Given the description of an element on the screen output the (x, y) to click on. 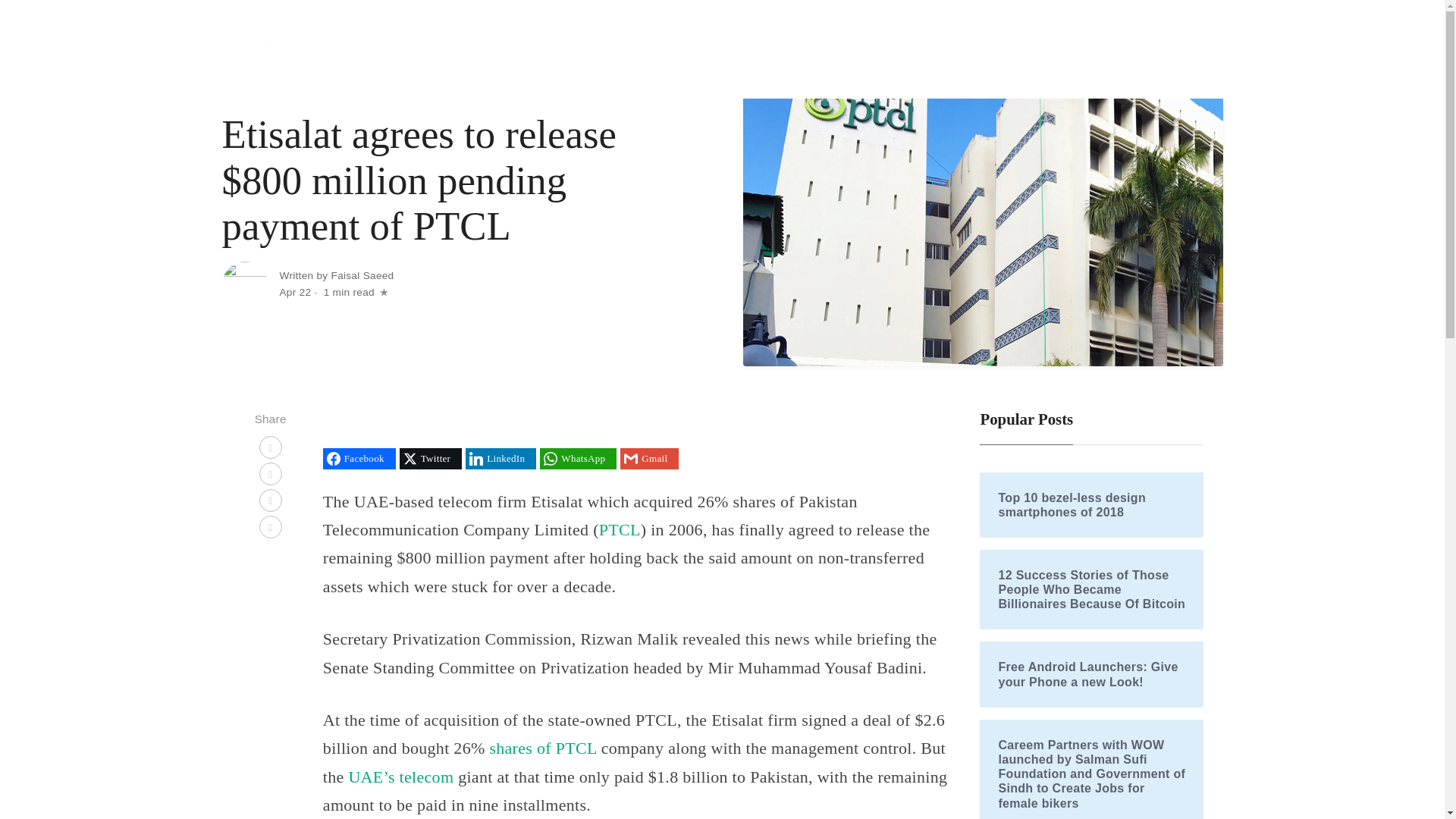
TELECOM (253, 88)
Share on Twitter (429, 458)
LinkedIn (500, 458)
Share on Facebook (359, 458)
Twitter (429, 458)
Written by Faisal Saeed (336, 275)
Startups (914, 49)
Technology (849, 49)
Share on WhatsApp (577, 458)
Writers (1192, 49)
Online Earning (1116, 49)
Facebook (359, 458)
Investment (1037, 49)
Share on LinkedIn (500, 458)
Mobile (972, 49)
